Given the description of an element on the screen output the (x, y) to click on. 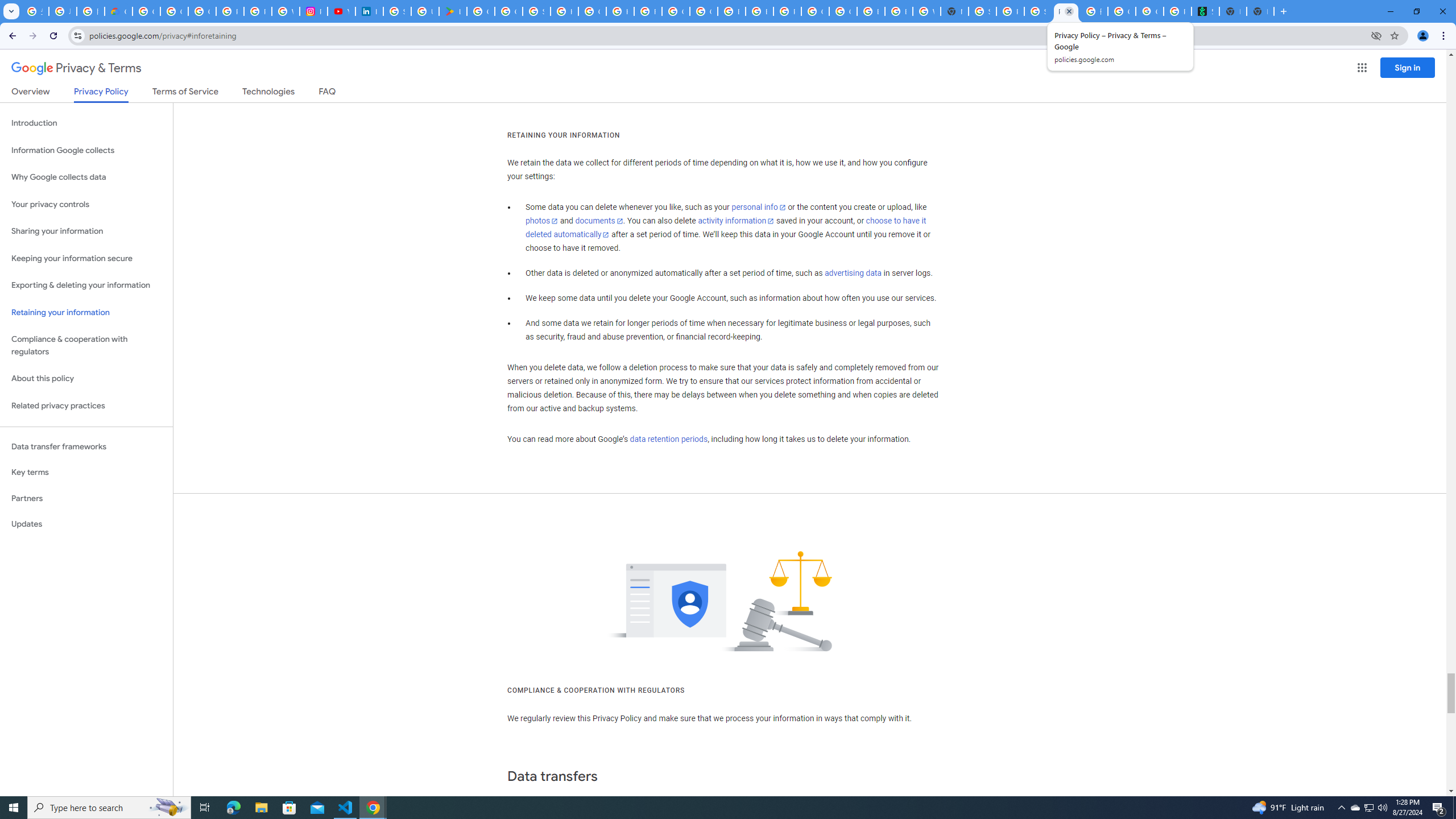
Google Cloud Platform (815, 11)
activity information (735, 221)
personal info (758, 207)
Key terms (86, 472)
YouTube Culture & Trends - On The Rise: Handcam Videos (341, 11)
Your privacy controls (86, 204)
Google apps (1362, 67)
Browse Chrome as a guest - Computer - Google Chrome Help (731, 11)
